Given the description of an element on the screen output the (x, y) to click on. 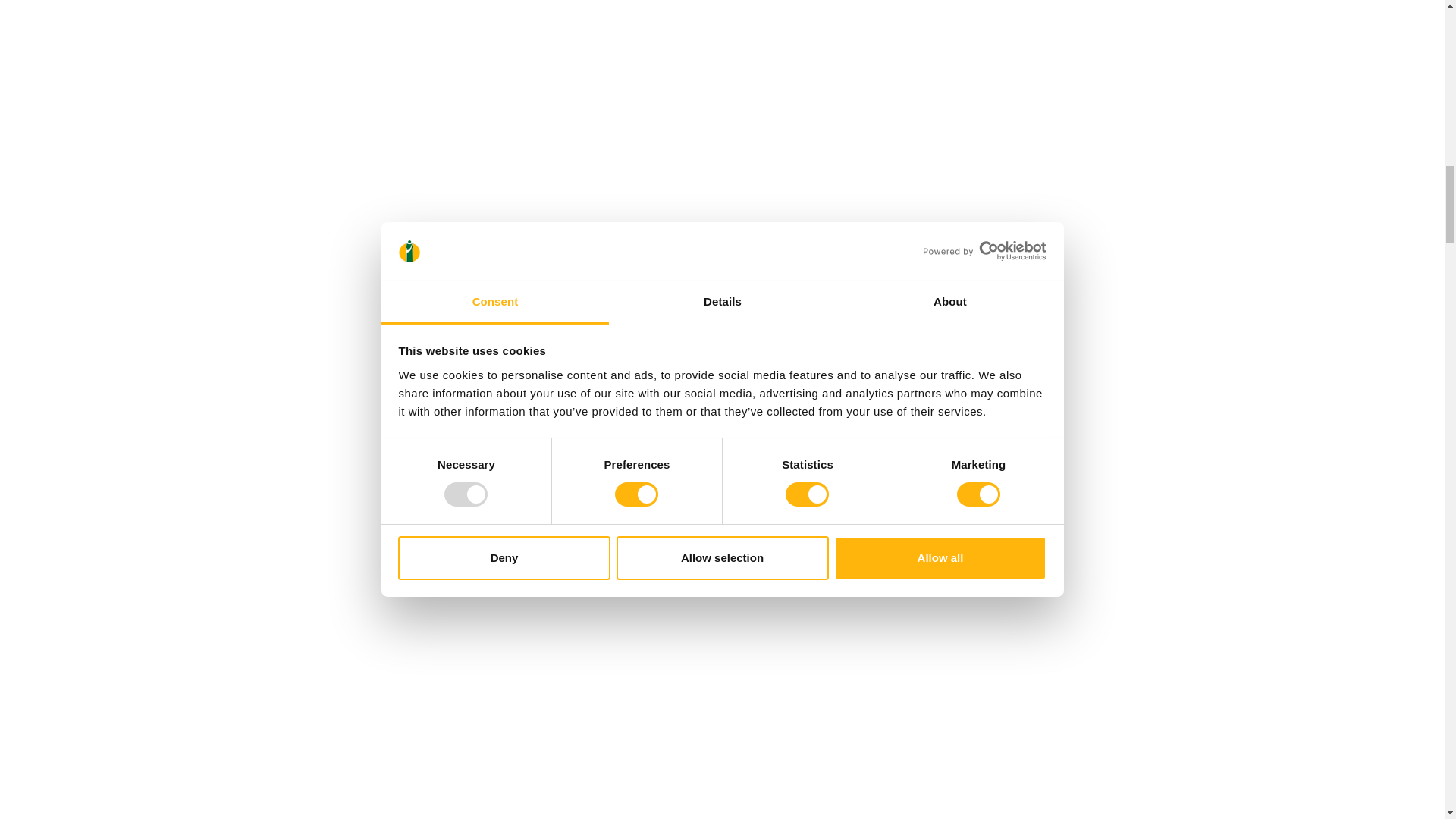
Google's privacy policy (499, 311)
Cookiebot's privacy policy (509, 660)
Cookiebot's privacy policy (509, 410)
Cookiebot (655, 146)
